Given the description of an element on the screen output the (x, y) to click on. 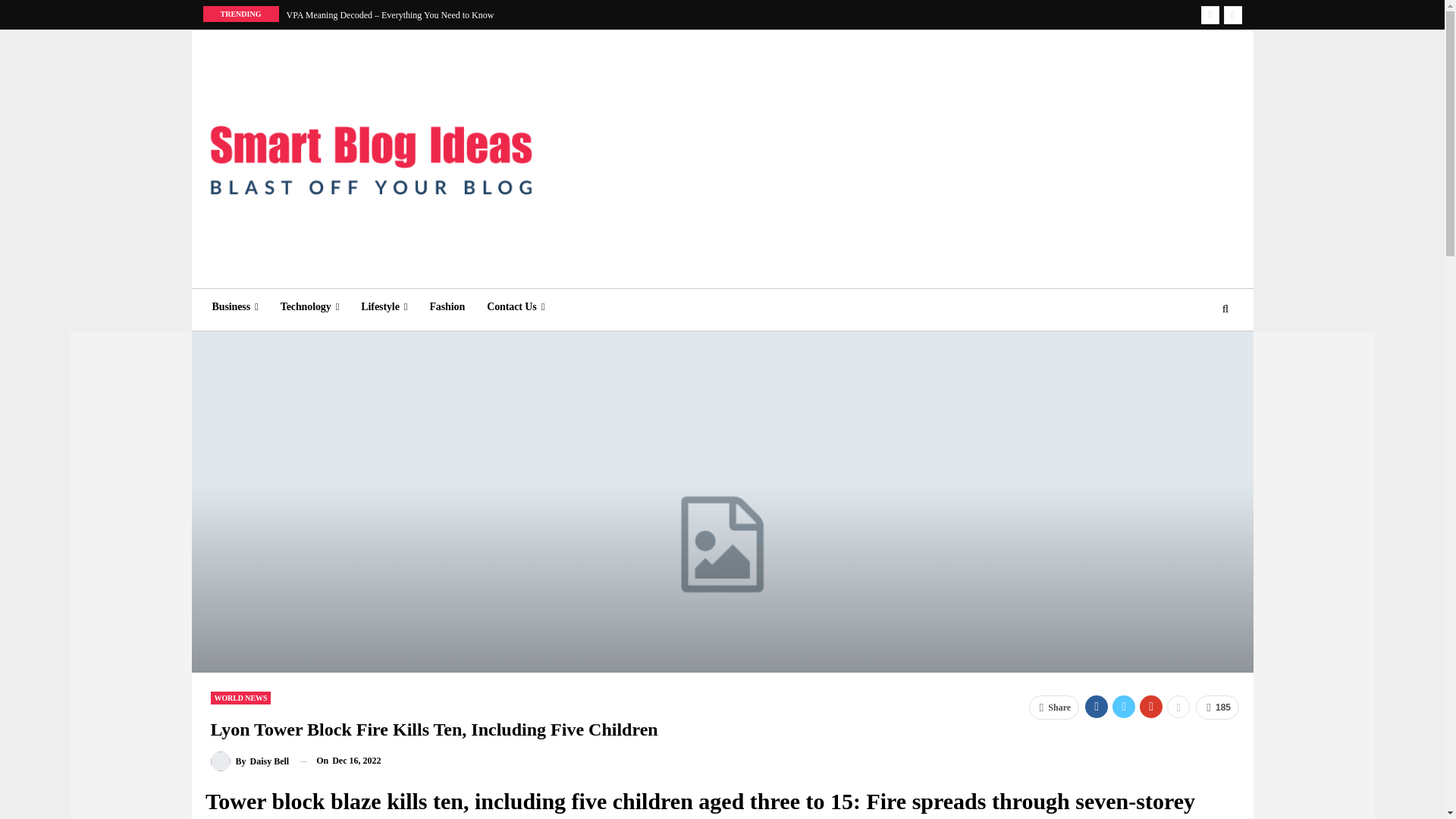
Contact Us (515, 307)
By Daisy Bell (250, 761)
Technology (309, 307)
WORLD NEWS (240, 697)
Fashion (447, 307)
Business (235, 307)
Lifestyle (384, 307)
Browse Author Articles (250, 761)
